Given the description of an element on the screen output the (x, y) to click on. 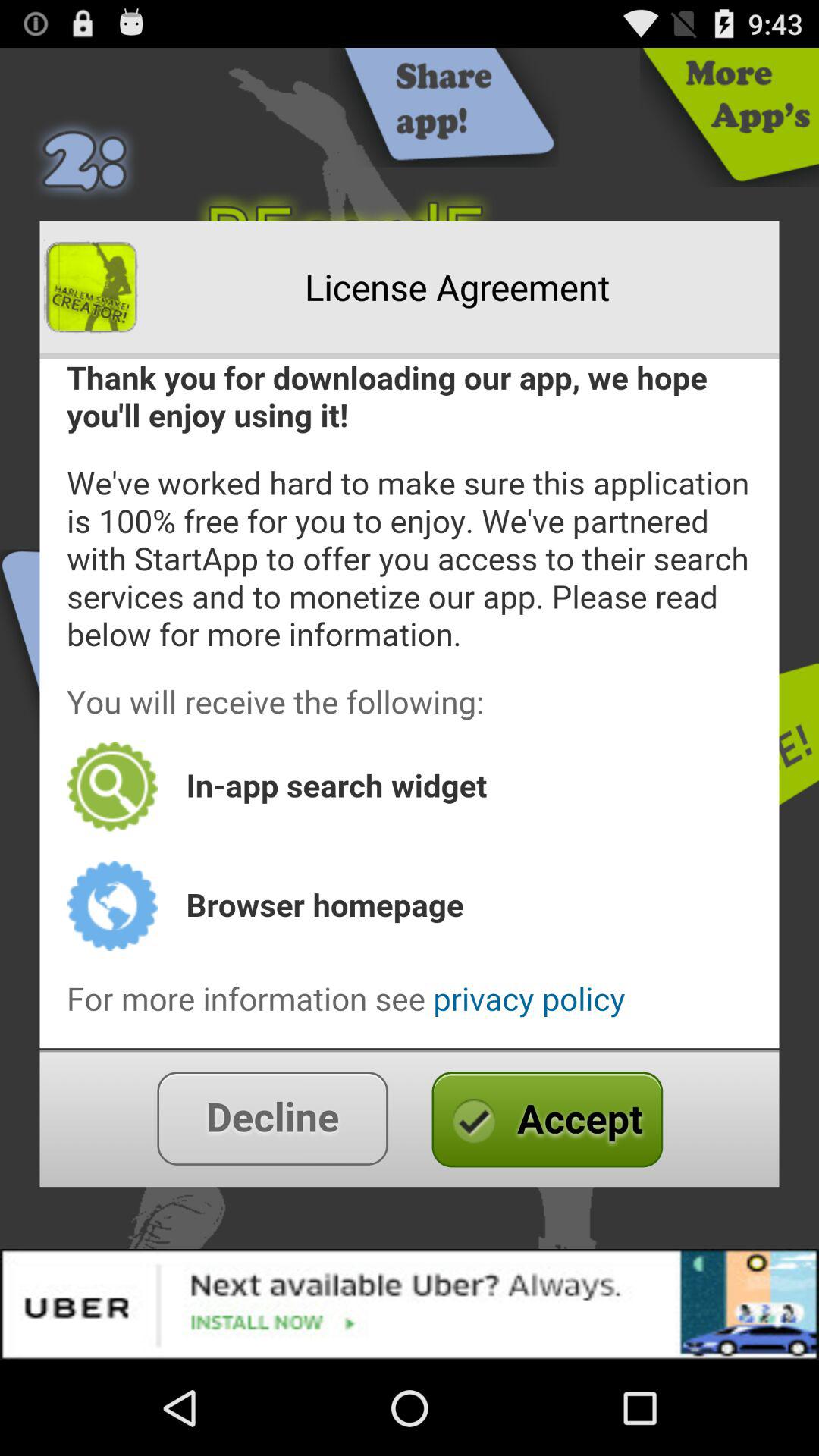
click to submit (409, 1117)
